Given the description of an element on the screen output the (x, y) to click on. 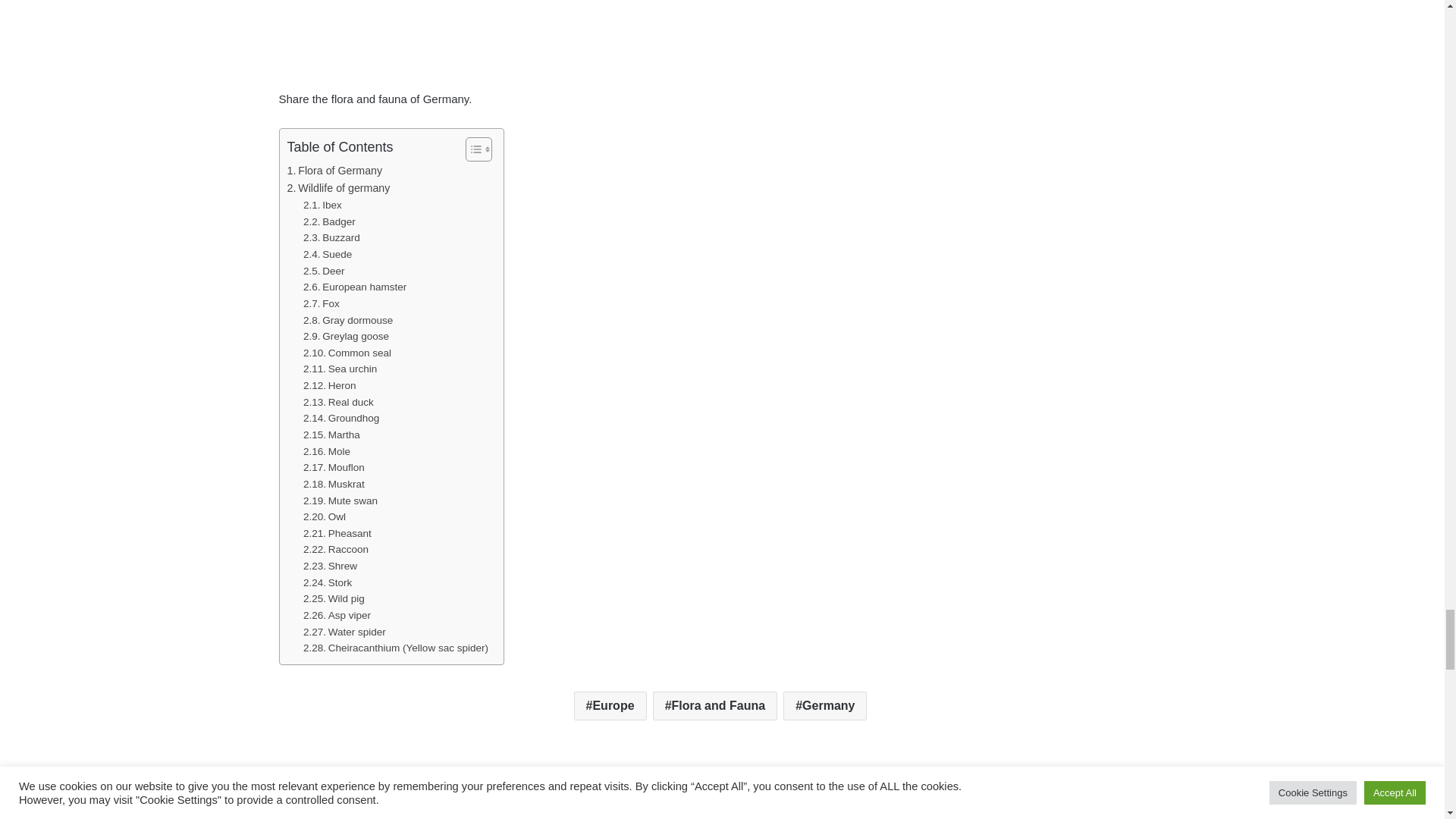
Gray dormouse (347, 320)
Groundhog (340, 418)
Sea urchin (339, 369)
Mouflon (333, 467)
Heron (329, 385)
Pheasant (336, 533)
Martha (330, 434)
Ibex (322, 205)
Owl (324, 516)
Buzzard (330, 238)
Shrew (329, 565)
Muskrat (333, 484)
Wildlife of germany (338, 188)
Flora of Germany (333, 170)
Raccoon (335, 549)
